Given the description of an element on the screen output the (x, y) to click on. 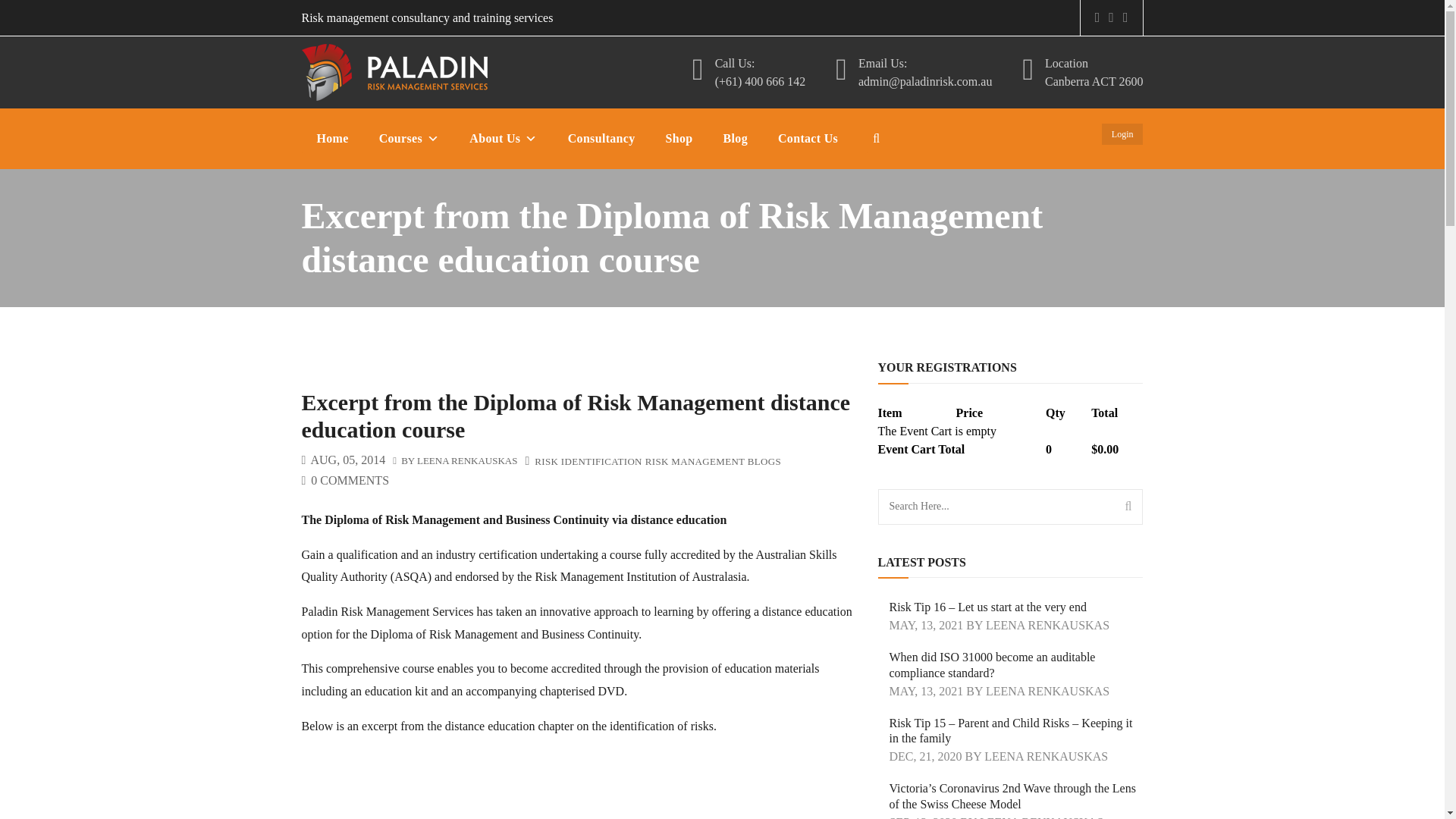
RISK IDENTIFICATION (588, 461)
Home (332, 138)
Login (1123, 133)
Contact Us (807, 138)
About Us (502, 138)
Consultancy (601, 138)
Shop (678, 138)
BY LEENA RENKAUSKAS (454, 460)
Blog (734, 138)
Courses (409, 138)
RISK MANAGEMENT BLOGS (712, 461)
